Given the description of an element on the screen output the (x, y) to click on. 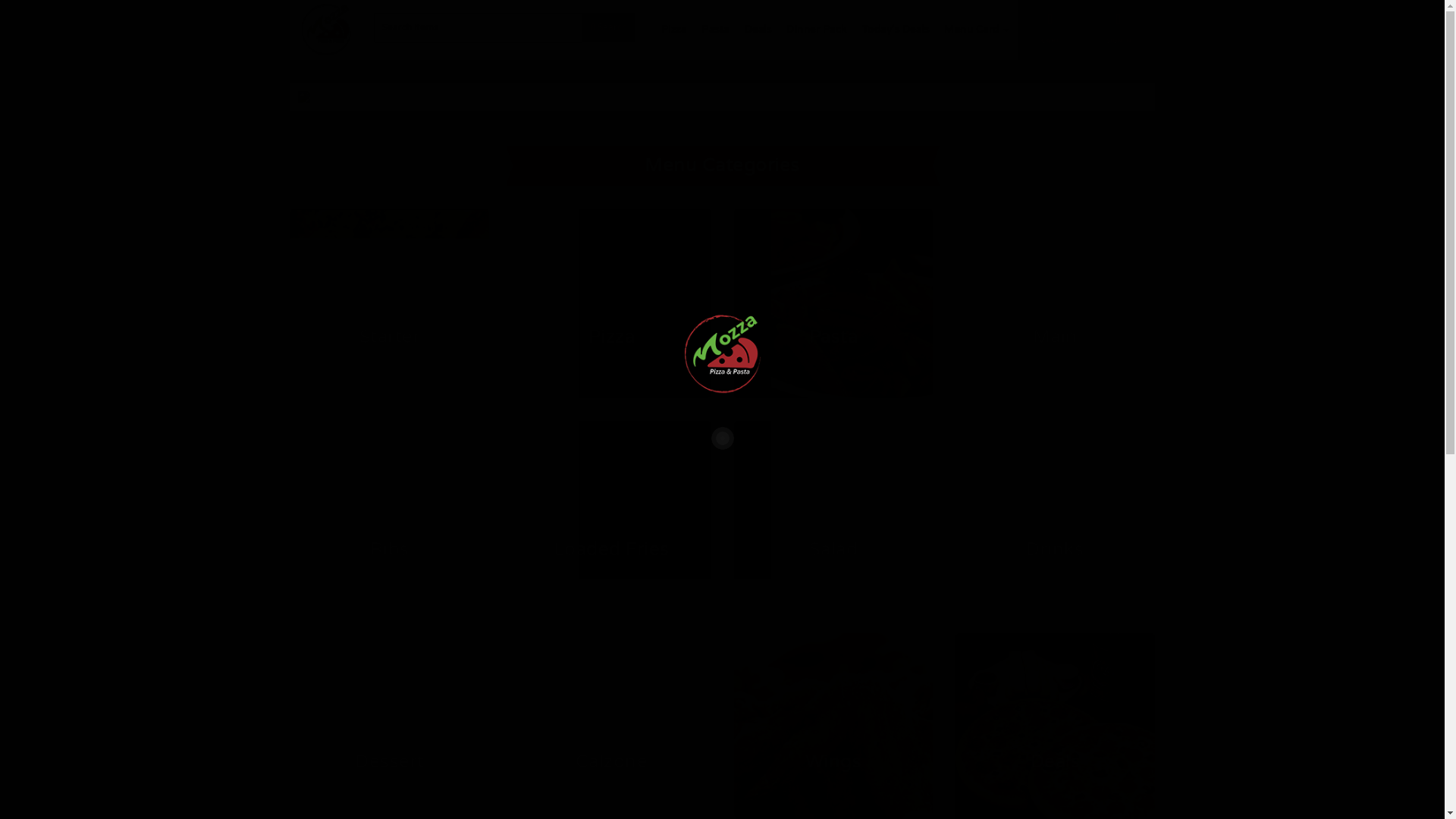
Salad Element type: text (833, 515)
Loaded Fries Element type: text (611, 515)
Main Element type: text (1054, 303)
Search Element type: text (608, 27)
Pizza Element type: text (611, 303)
Drinks Element type: text (1054, 515)
Pasta Element type: text (833, 303)
Starter Element type: text (389, 303)
Ribs Element type: text (389, 515)
